Given the description of an element on the screen output the (x, y) to click on. 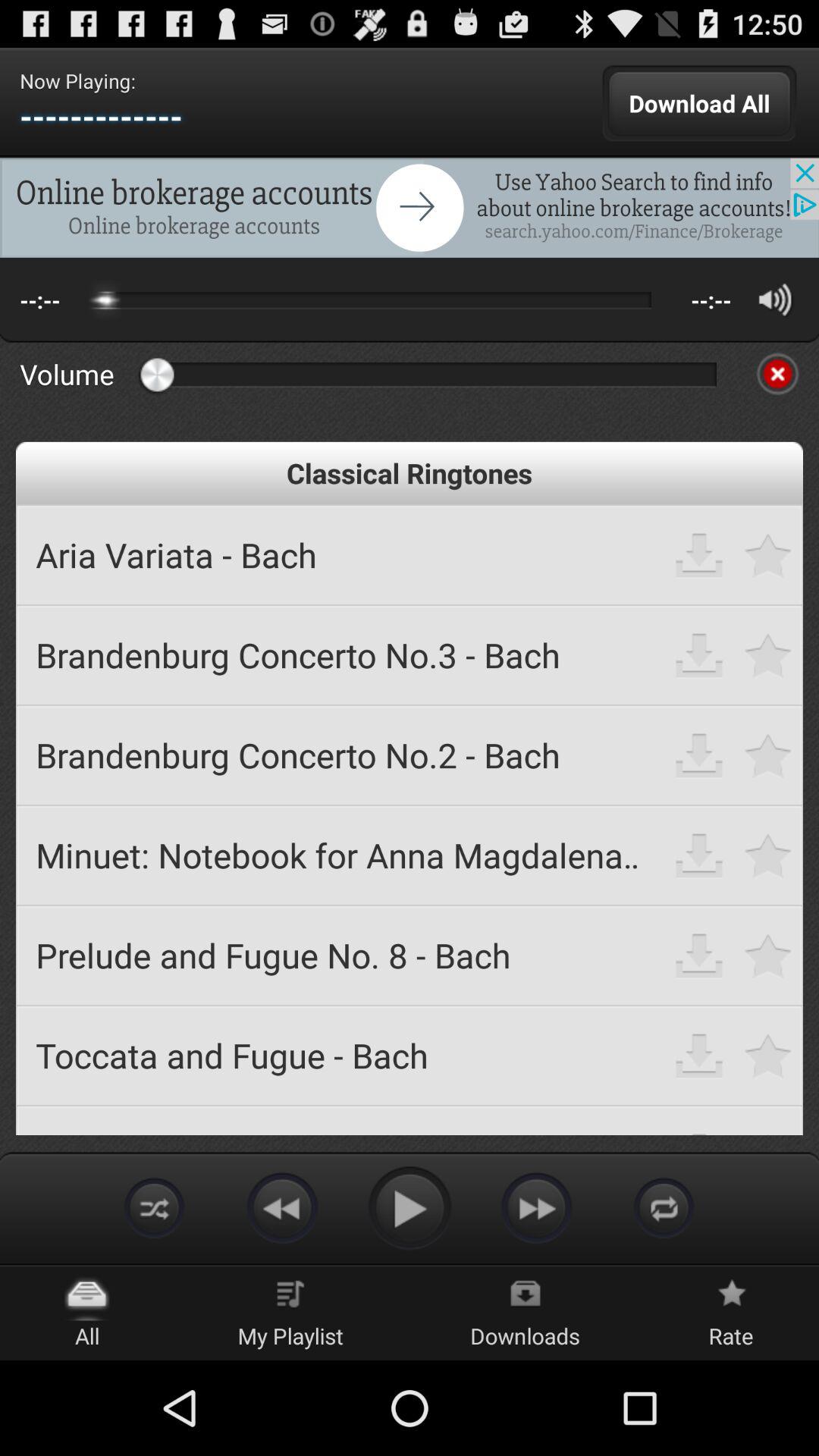
favorite ringtone (768, 654)
